Given the description of an element on the screen output the (x, y) to click on. 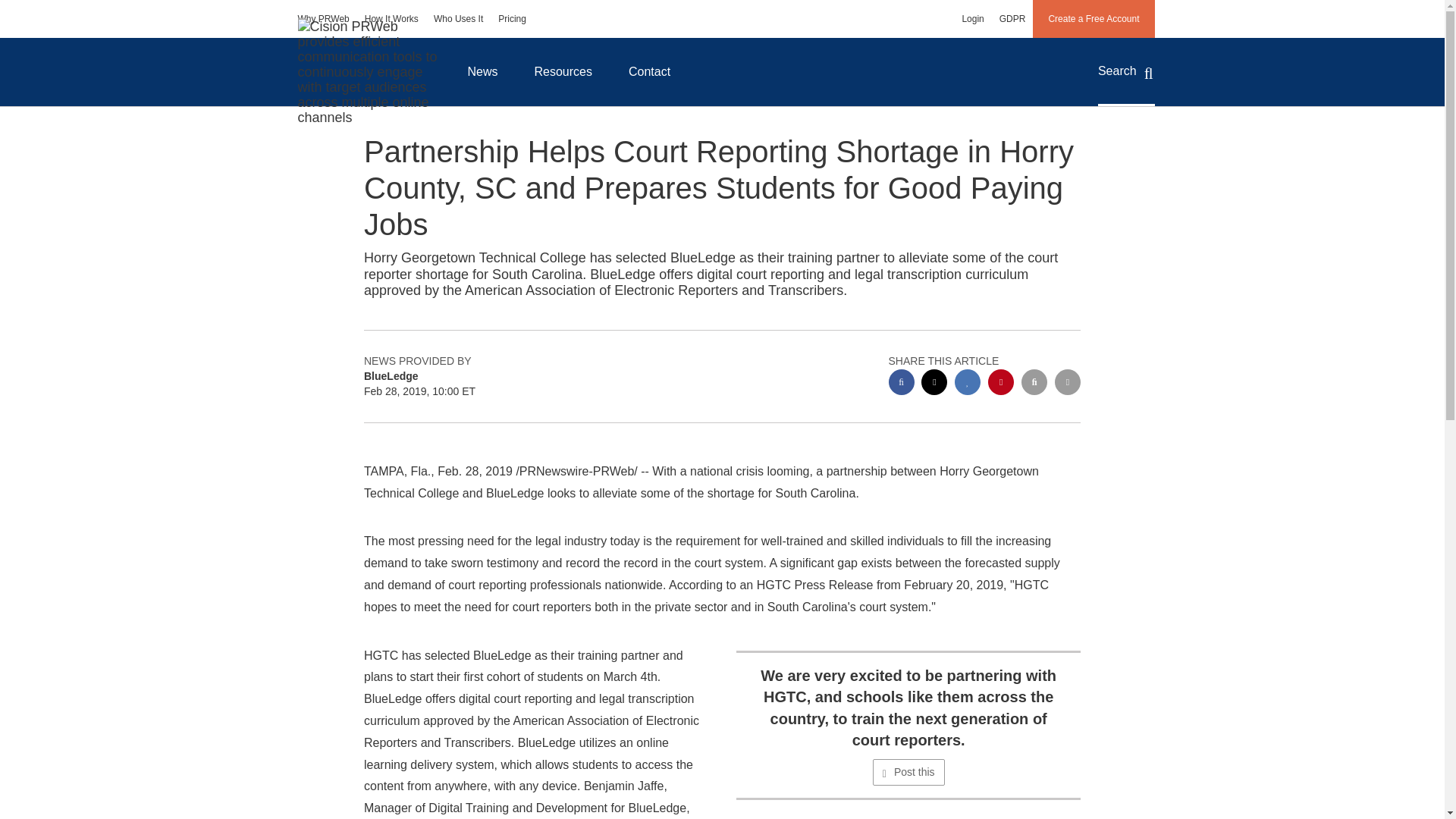
Pricing (512, 18)
How It Works (391, 18)
News (481, 71)
Why PRWeb (322, 18)
GDPR (1012, 18)
Contact (649, 71)
Resources (563, 71)
Create a Free Account (1093, 18)
Who Uses It (458, 18)
